Given the description of an element on the screen output the (x, y) to click on. 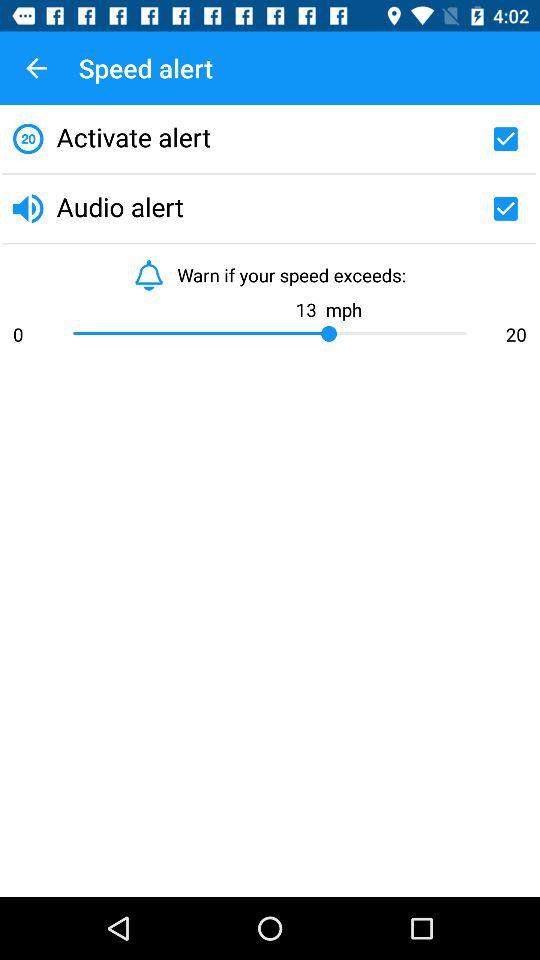
audio alert toggle switch (505, 208)
